Given the description of an element on the screen output the (x, y) to click on. 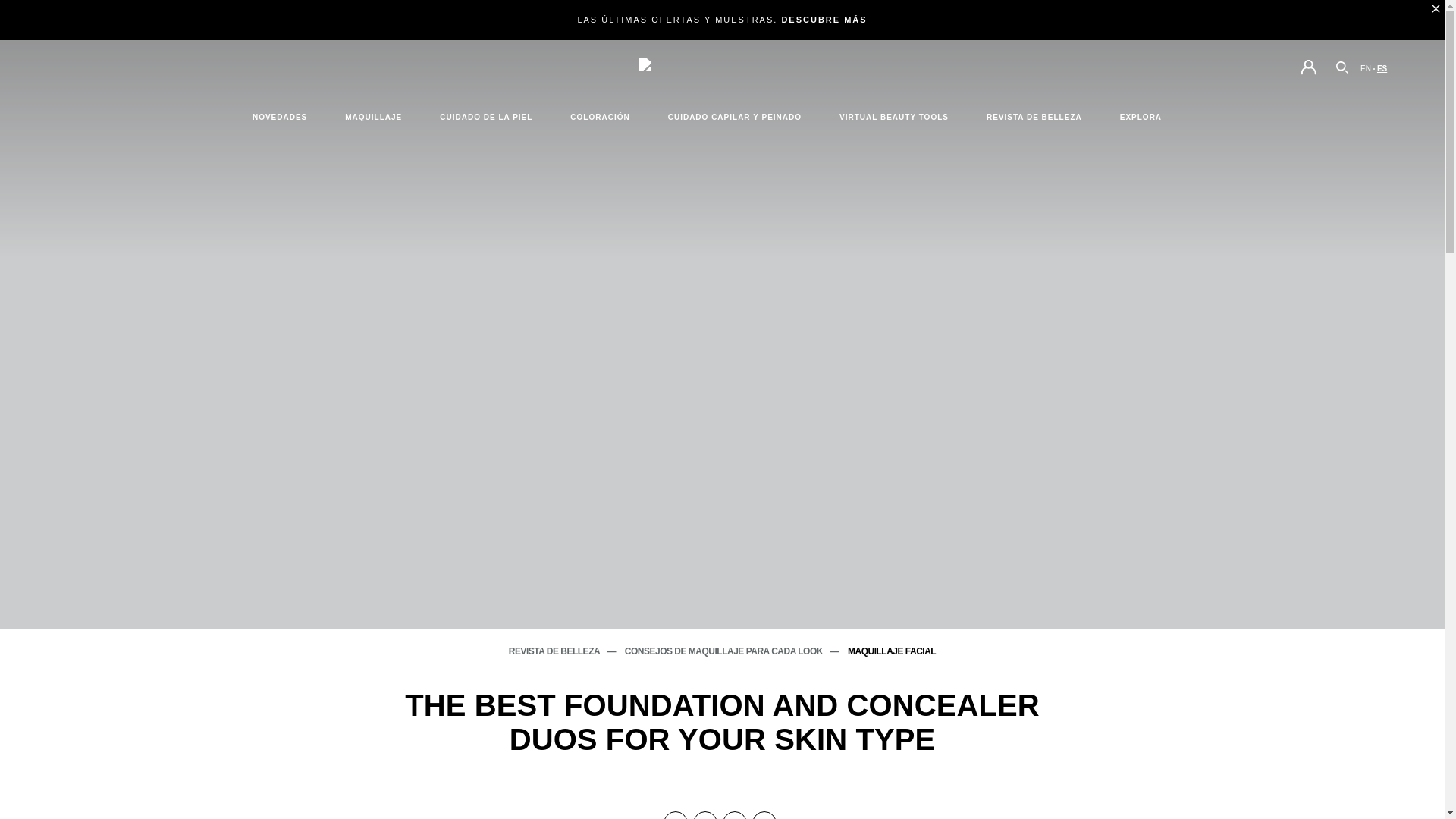
NOVEDADES (279, 117)
MAQUILLAJE (373, 117)
